Given the description of an element on the screen output the (x, y) to click on. 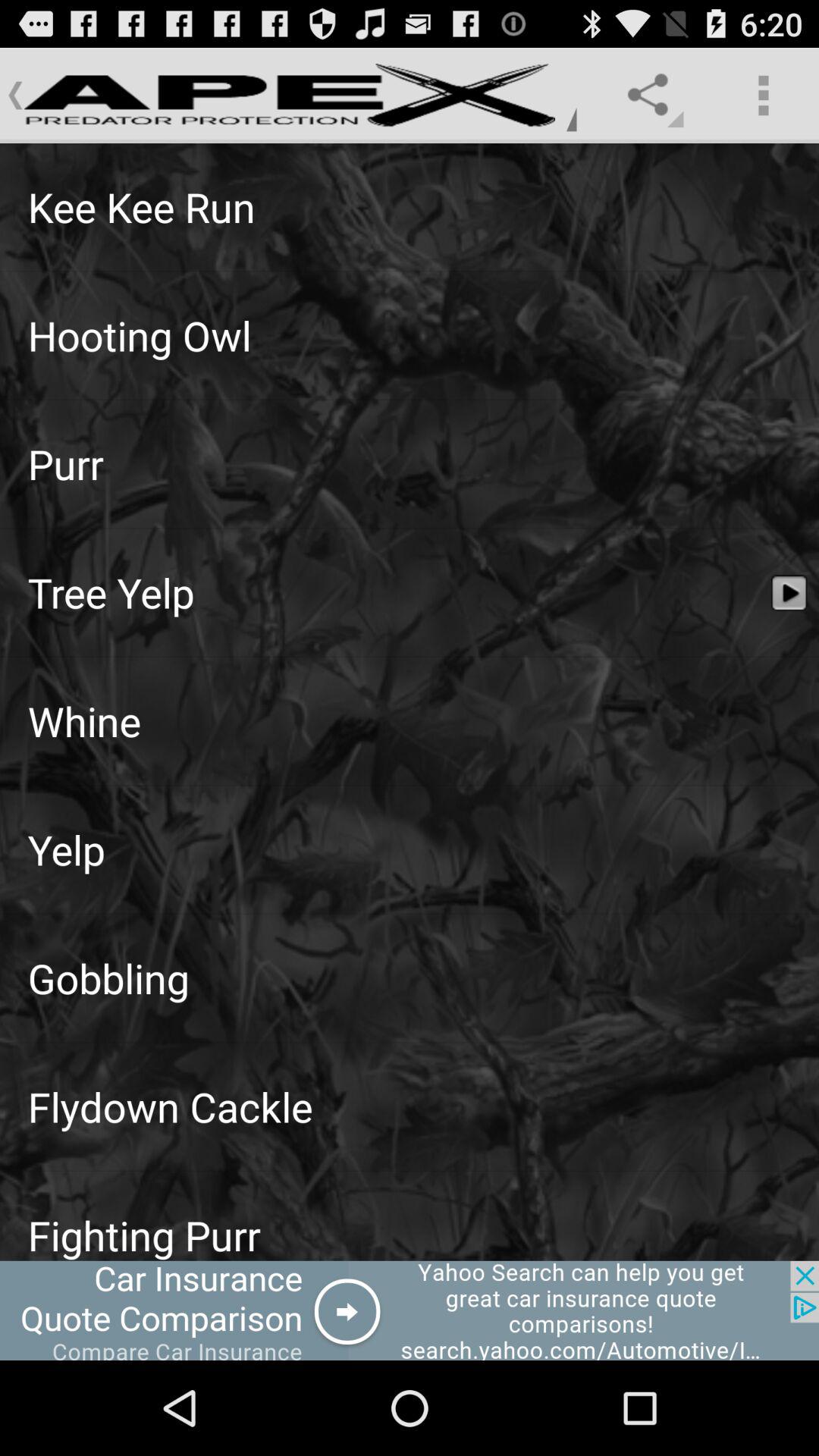
advert pop up (409, 1310)
